Given the description of an element on the screen output the (x, y) to click on. 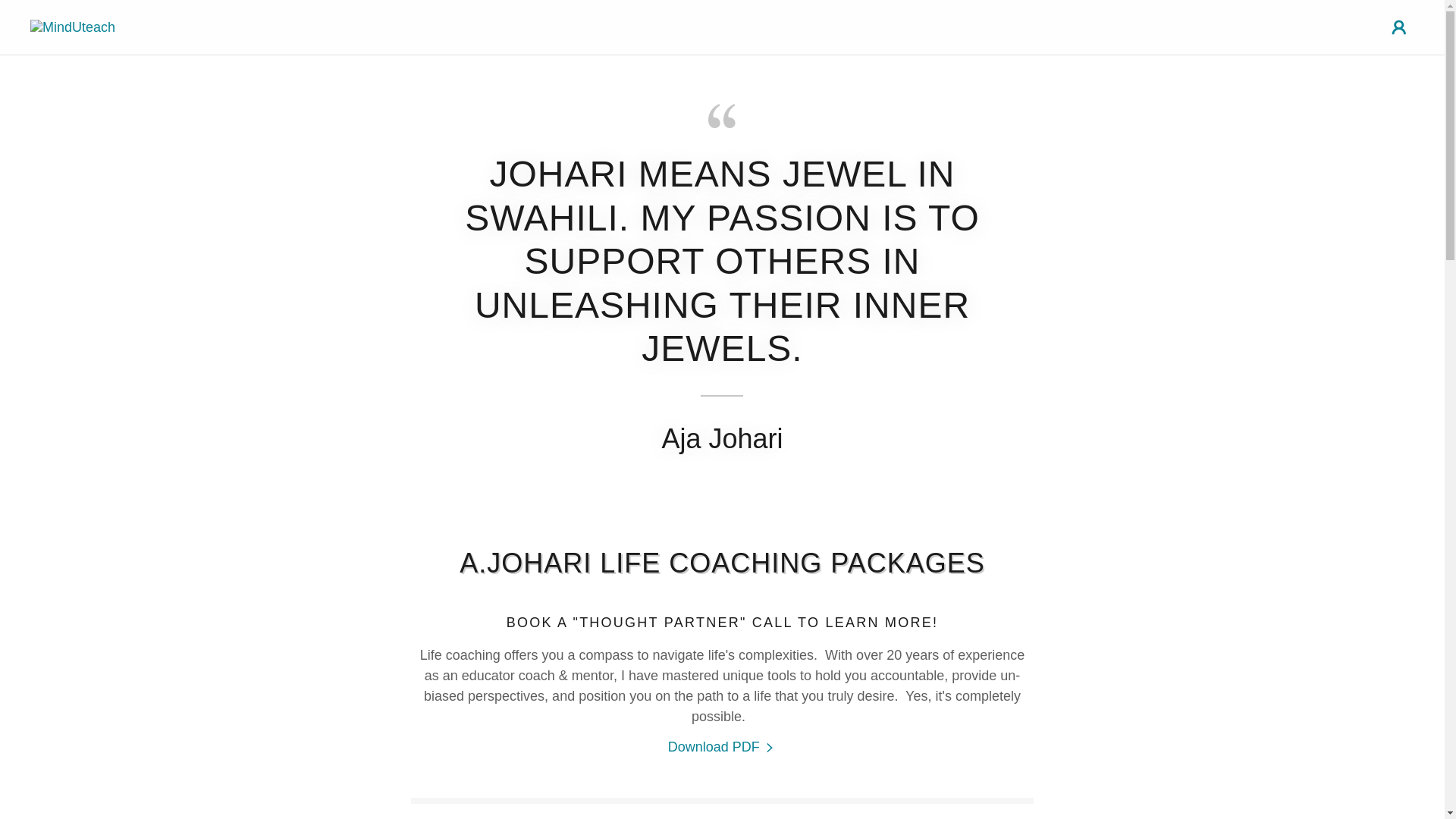
MindUteach (72, 26)
